Given the description of an element on the screen output the (x, y) to click on. 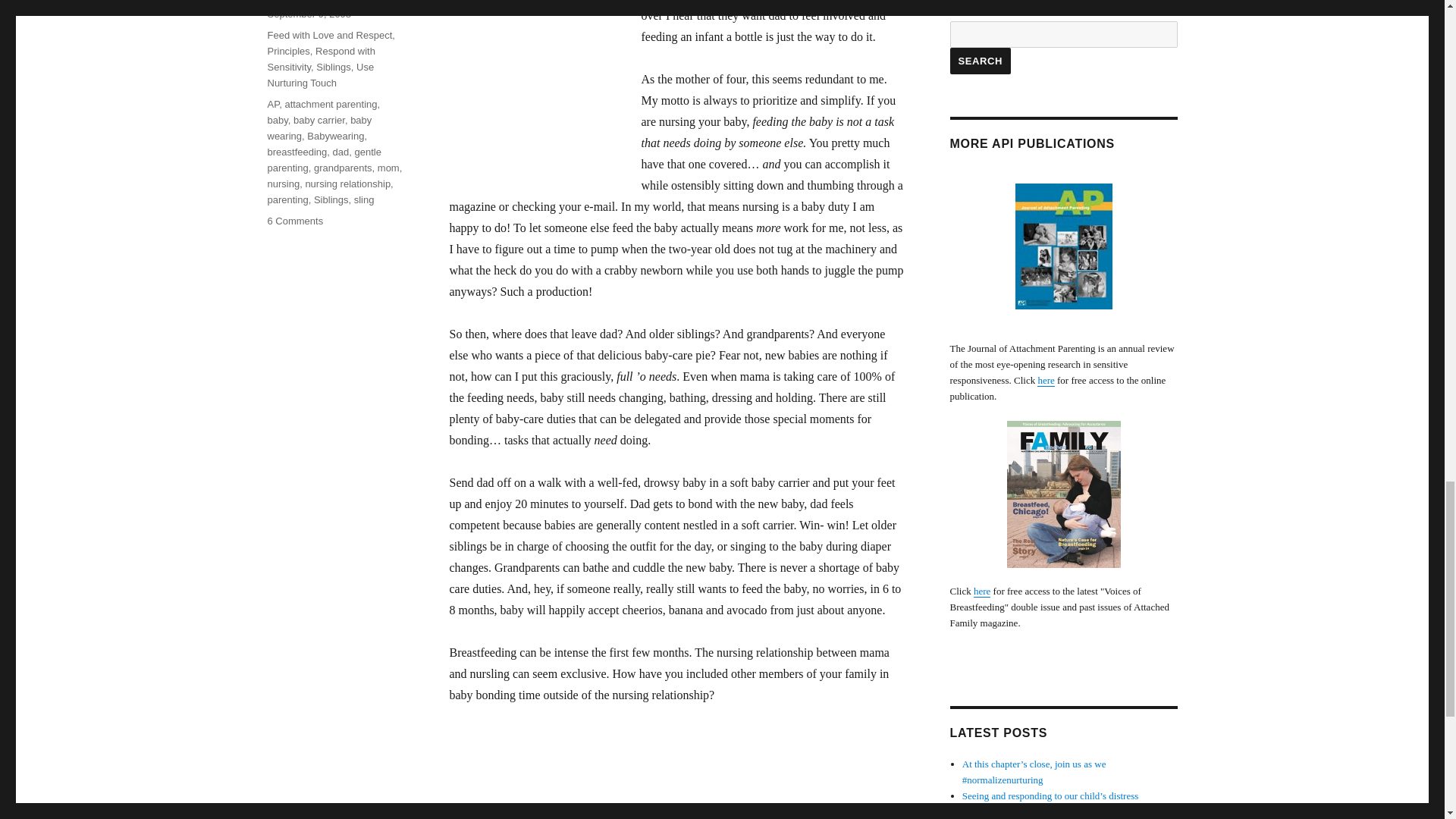
Feed with Love and Respect (328, 34)
Siblings (332, 66)
Principles (287, 50)
breastfeeding (296, 152)
AP (272, 103)
Use Nurturing Touch (320, 74)
baby wearing (318, 127)
baby (276, 120)
Search (979, 60)
attachment parenting (330, 103)
September 9, 2008 (308, 13)
baby carrier (319, 120)
Babywearing (335, 135)
Respond with Sensitivity (320, 58)
